Given the description of an element on the screen output the (x, y) to click on. 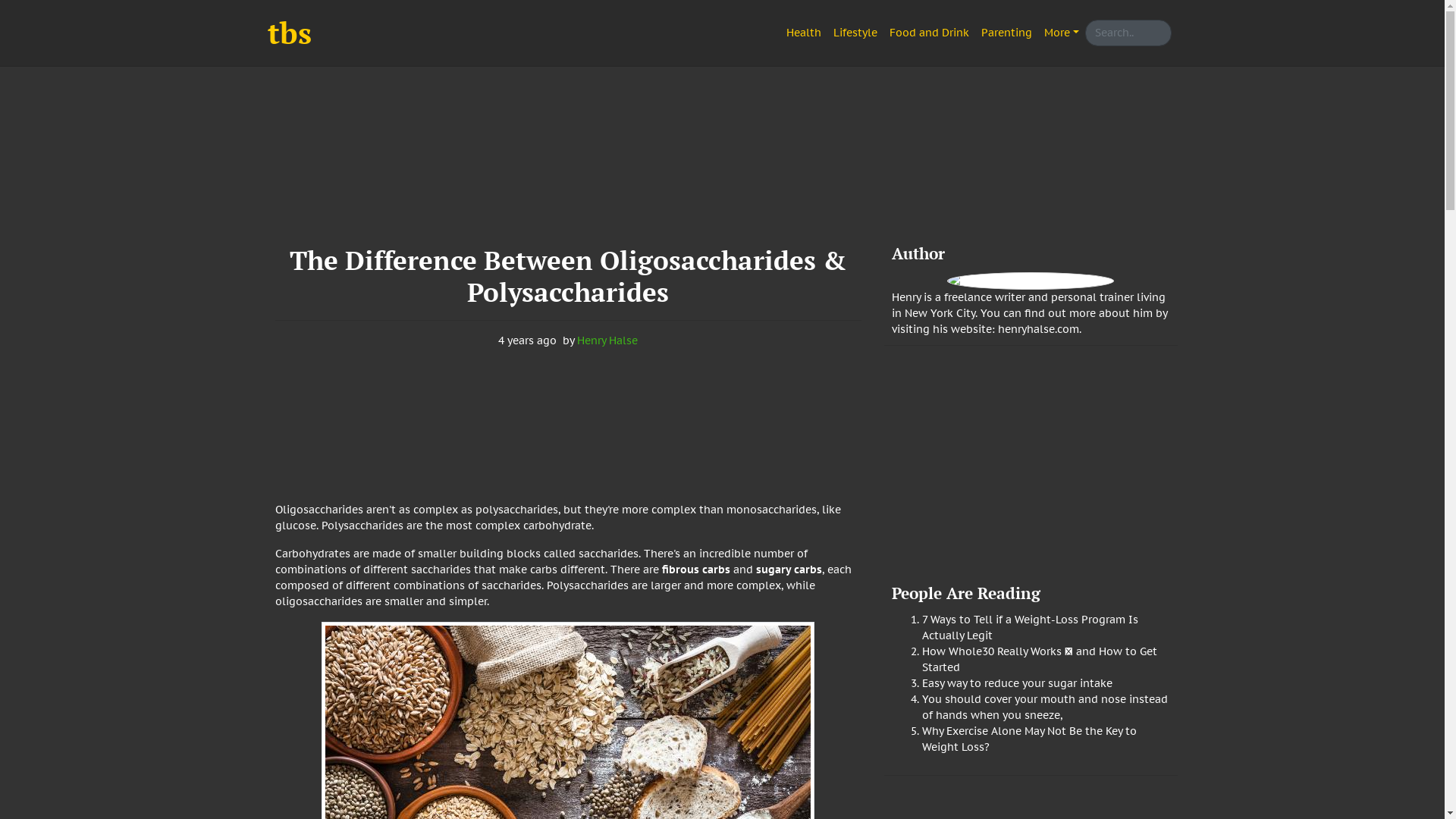
Why Exercise Alone May Not Be the Key to Weight Loss? Element type: text (1029, 738)
More Element type: text (1061, 32)
Parenting Element type: text (1006, 32)
Advertisement Element type: hover (1030, 470)
Advertisement Element type: hover (721, 160)
Lifestyle Element type: text (855, 32)
Food and Drink Element type: text (929, 32)
Health Element type: text (803, 32)
tbs Element type: text (288, 32)
Enter search query here.. Element type: hover (1127, 32)
Advertisement Element type: hover (568, 428)
7 Ways to Tell if a Weight-Loss Program Is Actually Legit Element type: text (1030, 627)
Easy way to reduce your sugar intake Element type: text (1017, 683)
